Given the description of an element on the screen output the (x, y) to click on. 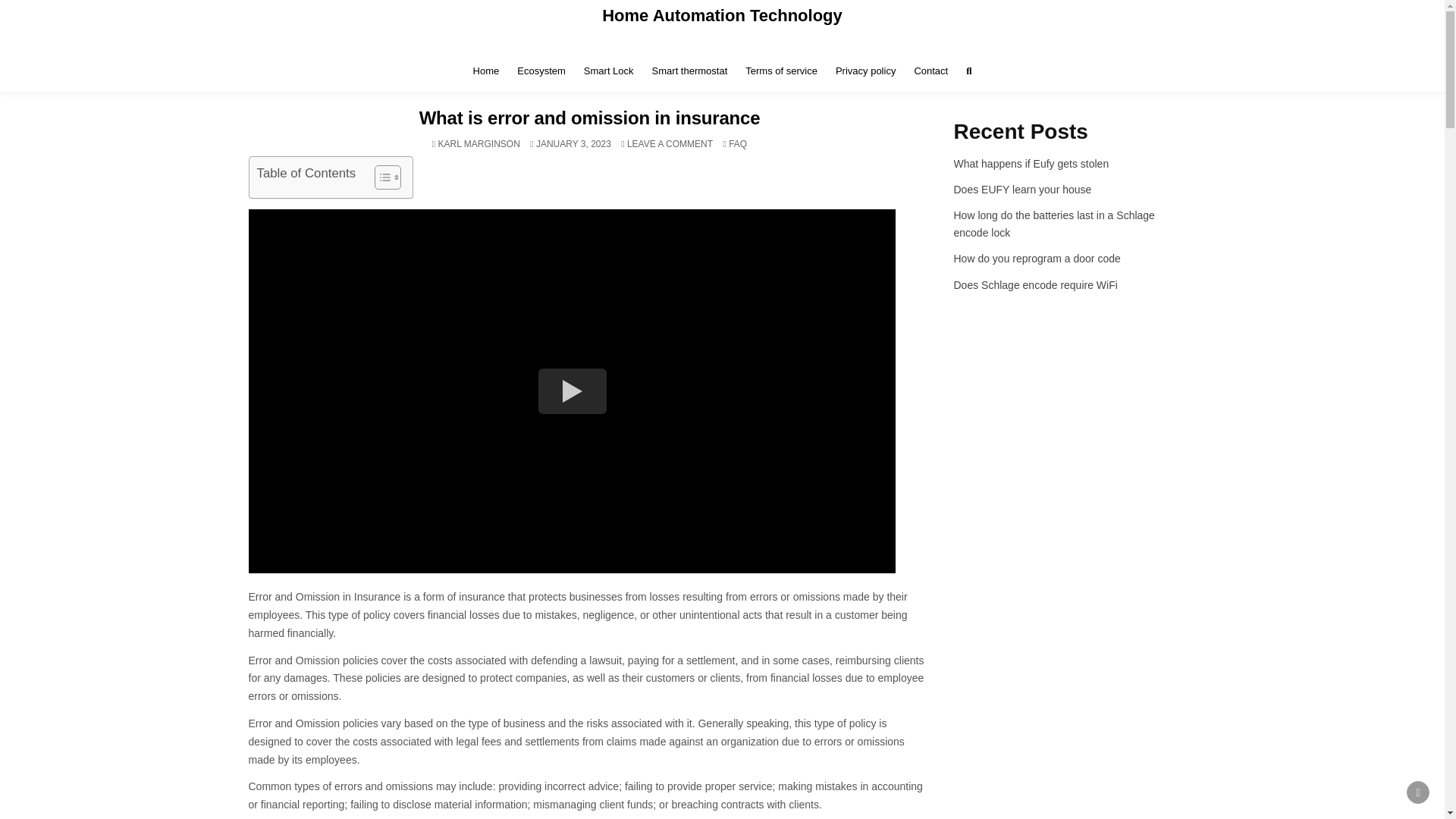
Privacy policy (865, 70)
SCROLL TO TOP (1417, 792)
Scroll to Top (1417, 792)
Does EUFY learn your house (1022, 189)
Smart thermostat (689, 70)
What happens if Eufy gets stolen (1031, 163)
Does Schlage encode require WiFi (1035, 285)
How do you reprogram a door code (1037, 258)
Contact (930, 70)
Smart Lock (670, 143)
How long do the batteries last in a Schlage encode lock (609, 70)
KARL MARGINSON (1053, 223)
Home Automation Technology (478, 143)
Terms of service (722, 15)
